Given the description of an element on the screen output the (x, y) to click on. 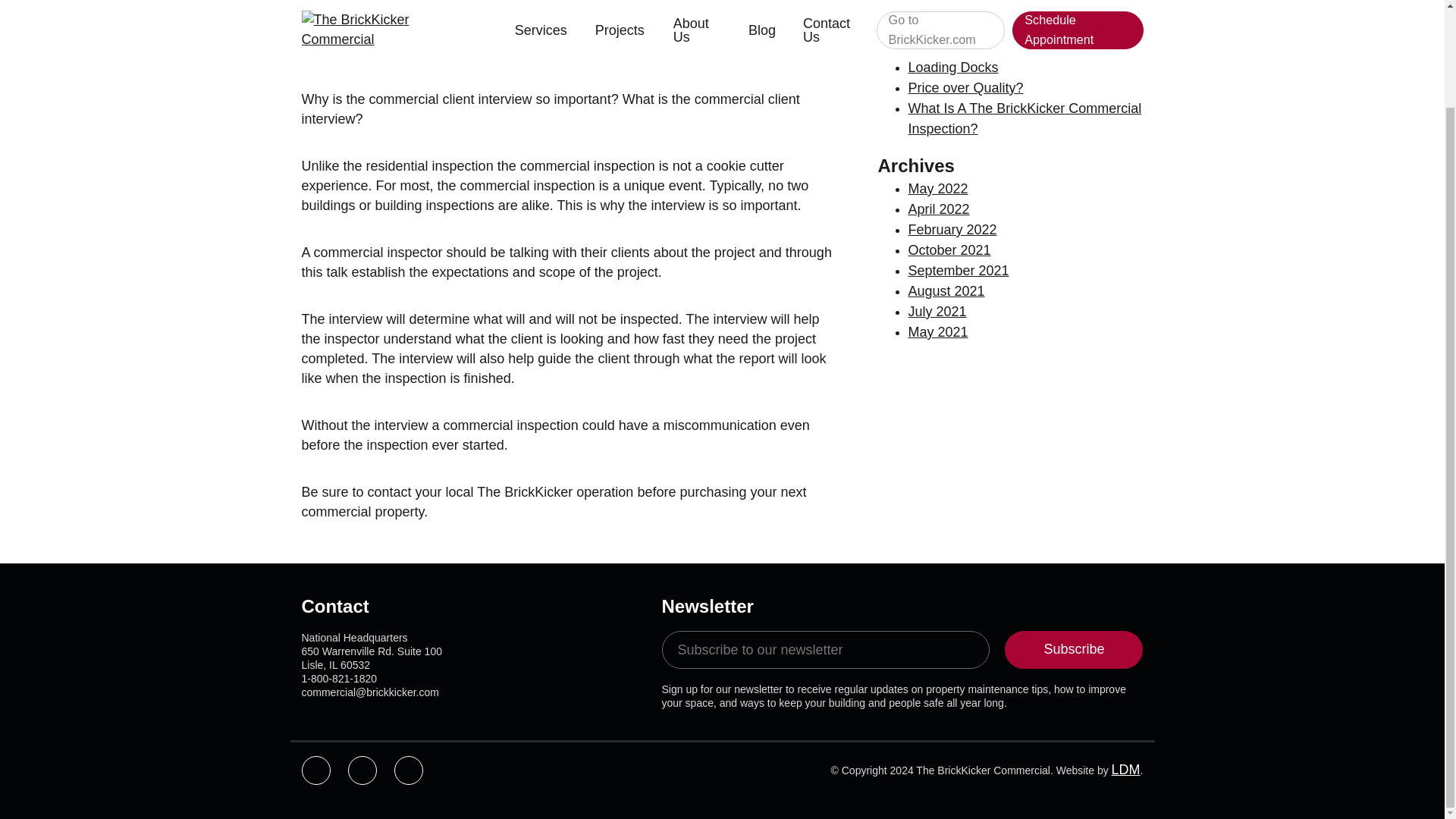
1-800-821-1820 (339, 678)
July 2021 (937, 311)
What about a lease? (970, 46)
April 2022 (938, 209)
September 2021 (958, 270)
August 2021 (946, 290)
February 2022 (952, 229)
Subscribe (1073, 649)
What Is A The BrickKicker Commercial Inspection? (1024, 118)
October 2021 (949, 249)
